Given the description of an element on the screen output the (x, y) to click on. 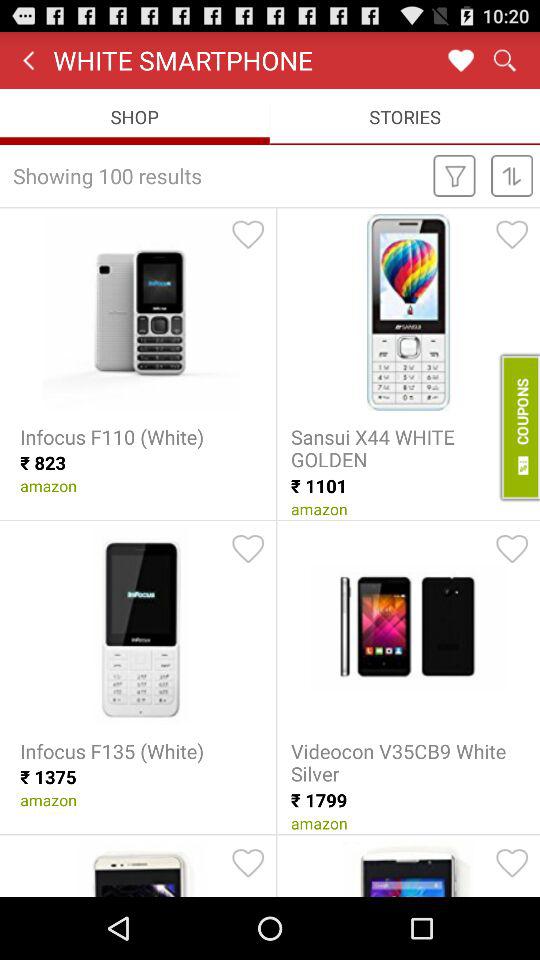
like the design (512, 549)
